Given the description of an element on the screen output the (x, y) to click on. 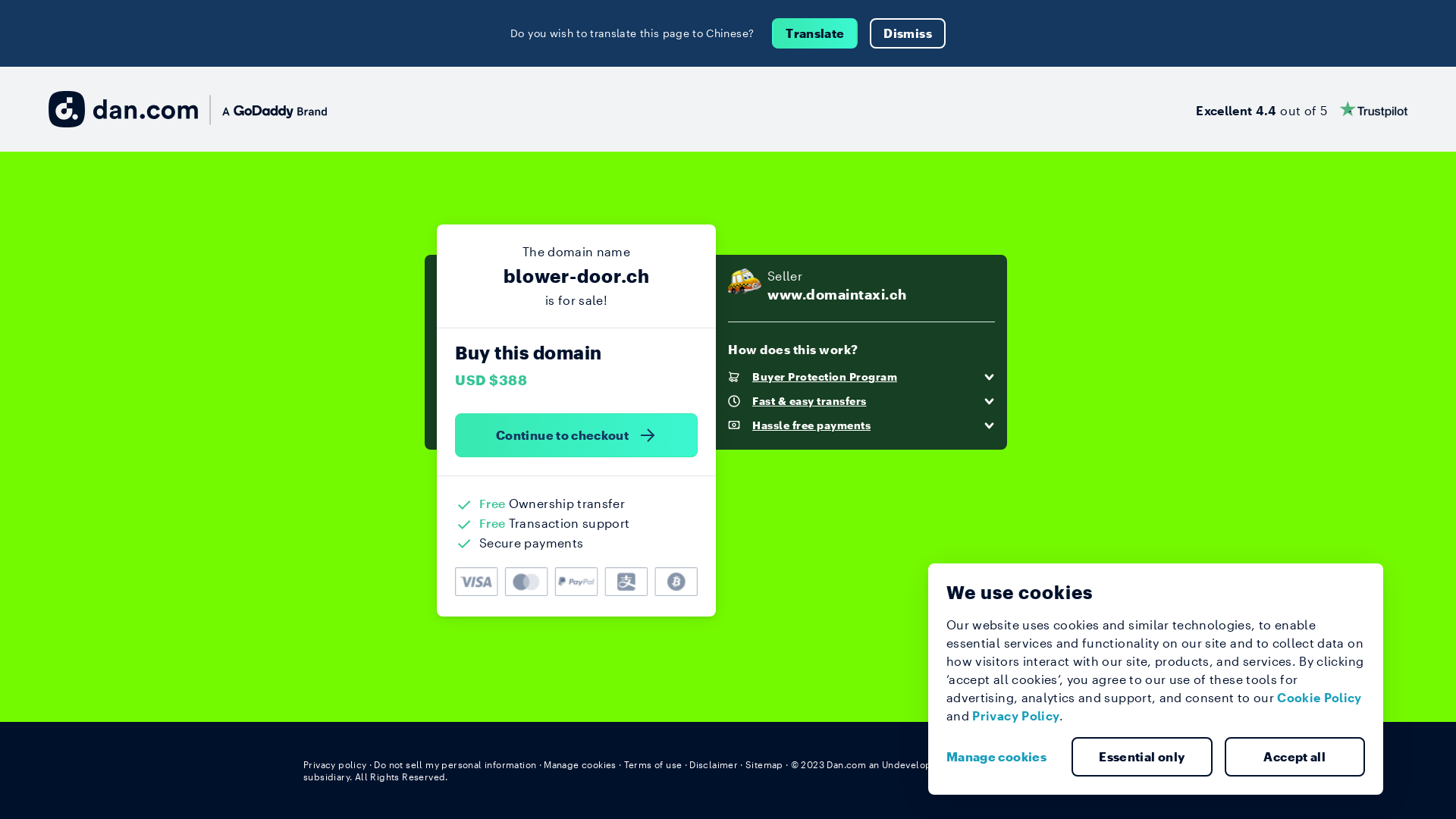
Privacy Policy Element type: text (1015, 715)
Manage cookies Element type: text (1002, 756)
Disclaimer Element type: text (713, 764)
Dismiss Element type: text (906, 33)
Manage cookies Element type: text (579, 764)
Essential only Element type: text (1141, 756)
Excellent 4.4 out of 5 Element type: text (1301, 109)
Sitemap Element type: text (764, 764)
Do not sell my personal information Element type: text (454, 764)
Cookie Policy Element type: text (1319, 697)
Privacy policy Element type: text (335, 764)
Terms of use Element type: text (653, 764)
Continue to checkout
) Element type: text (576, 435)
English Element type: text (1124, 764)
Accept all Element type: text (1294, 756)
Translate Element type: text (814, 33)
